Given the description of an element on the screen output the (x, y) to click on. 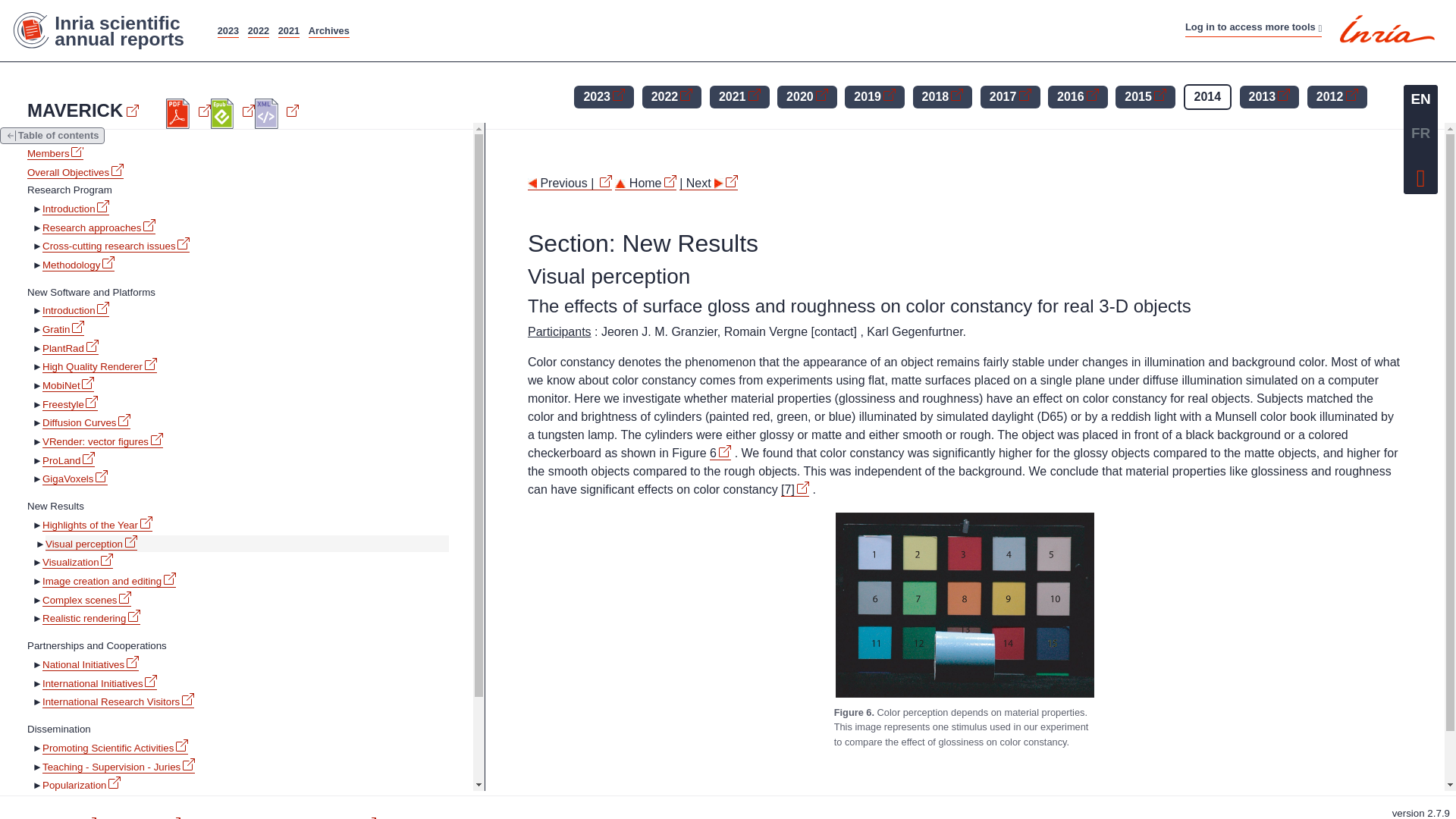
2023 annual reports (227, 30)
2022 annual reports (258, 30)
Home page - Inria scientific annual reports (106, 30)
Search (804, 23)
All archives (328, 30)
2022 (258, 30)
Log in to access more tools (1253, 27)
 FR: Use french language (1420, 133)
Site map (686, 23)
FR (1420, 133)
Current language en (1420, 99)
Accessibility (747, 23)
2023 (227, 30)
Accessibility (1420, 175)
MAVERICK (82, 110)
